Given the description of an element on the screen output the (x, y) to click on. 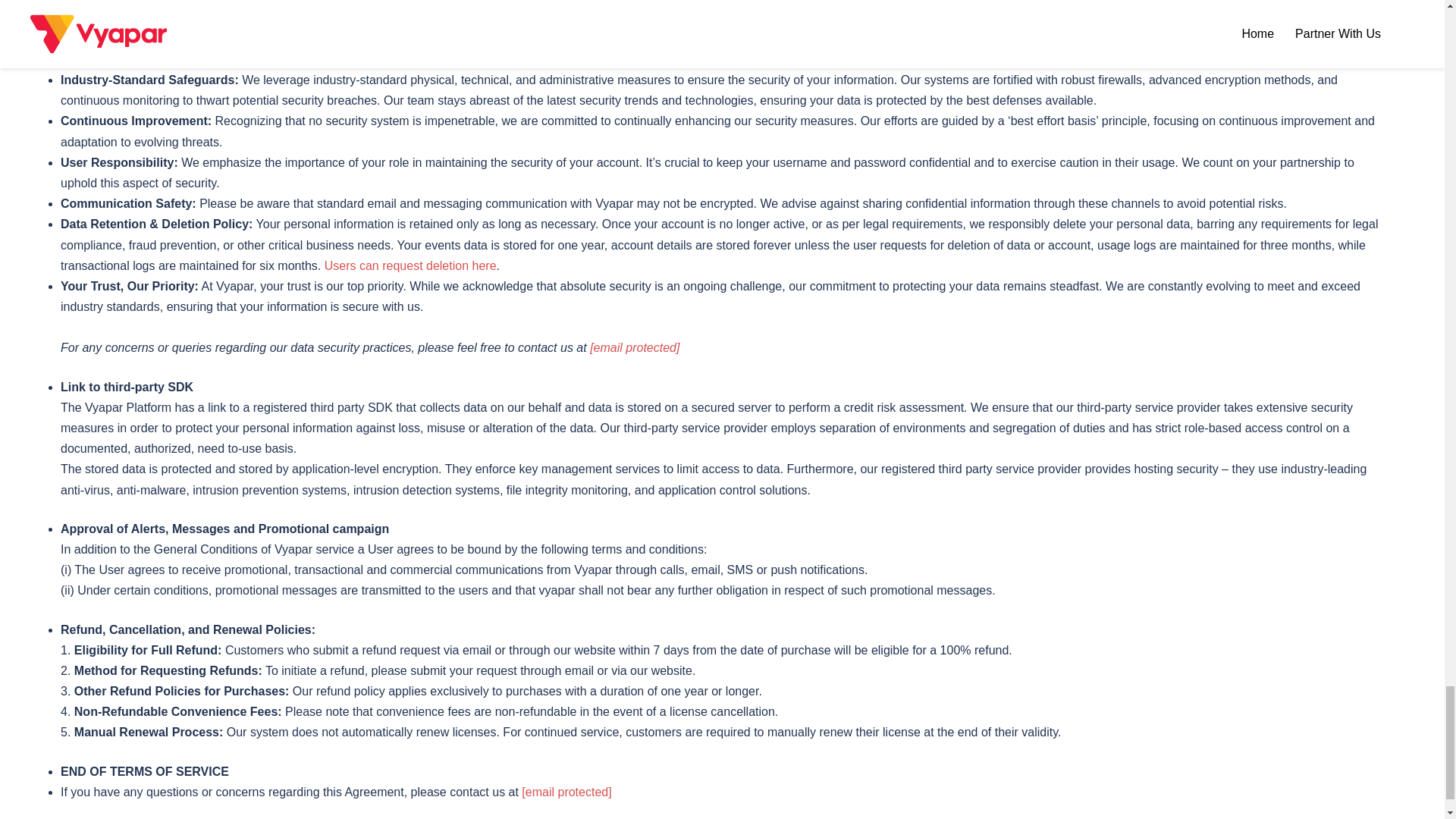
Users can request deletion here (410, 265)
